Given the description of an element on the screen output the (x, y) to click on. 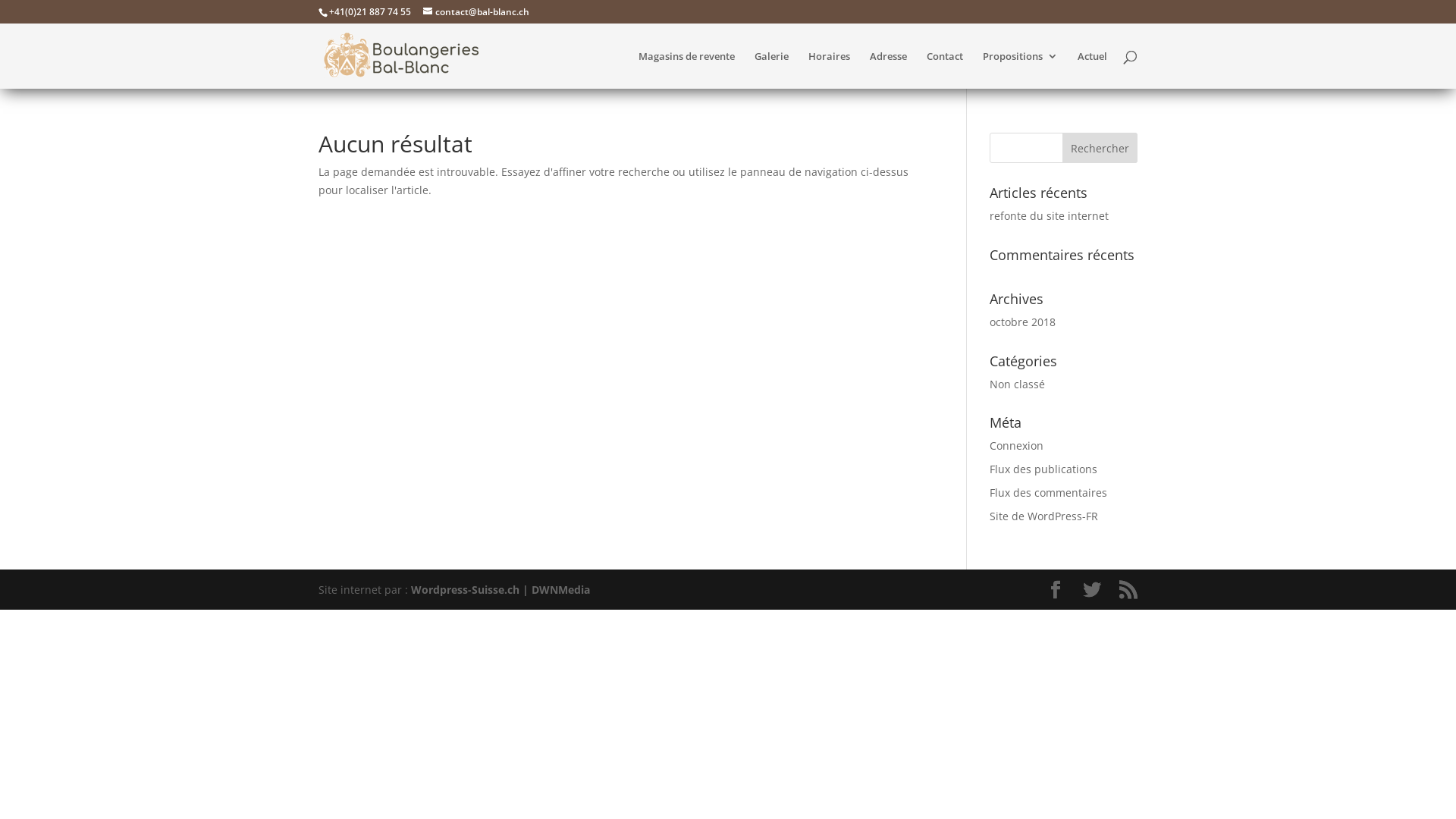
Adresse Element type: text (887, 69)
Contact Element type: text (944, 69)
Actuel Element type: text (1092, 69)
Propositions Element type: text (1019, 69)
Magasins de revente Element type: text (686, 69)
Horaires Element type: text (829, 69)
Wordpress-Suisse.ch | DWNMedia Element type: text (500, 589)
contact@bal-blanc.ch Element type: text (476, 11)
Galerie Element type: text (771, 69)
Flux des publications Element type: text (1043, 468)
Connexion Element type: text (1016, 445)
Site de WordPress-FR Element type: text (1043, 515)
Rechercher Element type: text (1099, 147)
refonte du site internet Element type: text (1048, 215)
octobre 2018 Element type: text (1022, 321)
Flux des commentaires Element type: text (1048, 492)
